Given the description of an element on the screen output the (x, y) to click on. 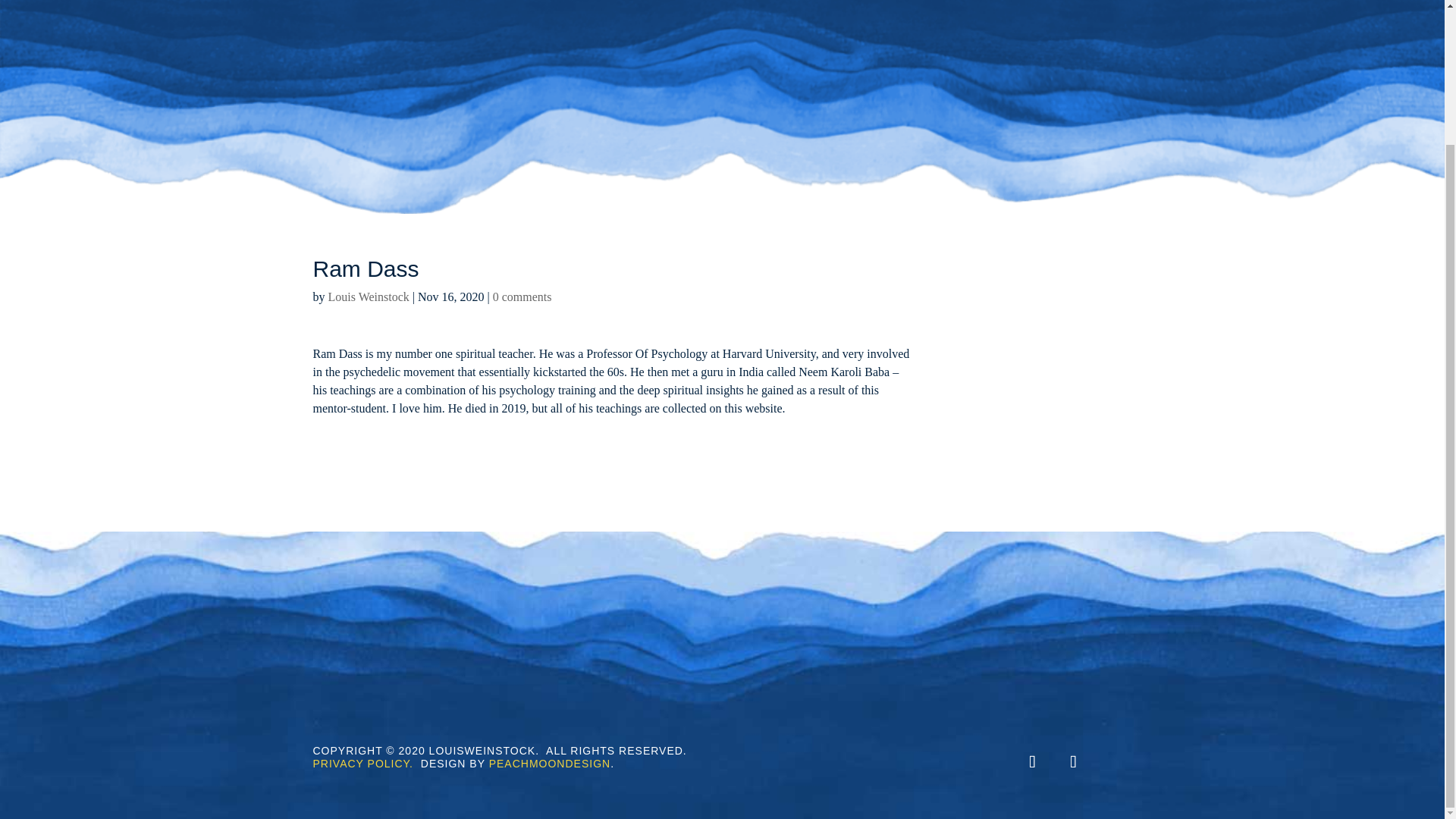
Follow on Facebook (1072, 761)
Posts by Louis Weinstock (368, 296)
PRIVACY POLICY. (363, 763)
PEACHMOONDESIGN (549, 763)
Louis Weinstock (368, 296)
0 comments (522, 296)
Follow on  (1117, 761)
Follow on LinkedIn (1031, 761)
